Given the description of an element on the screen output the (x, y) to click on. 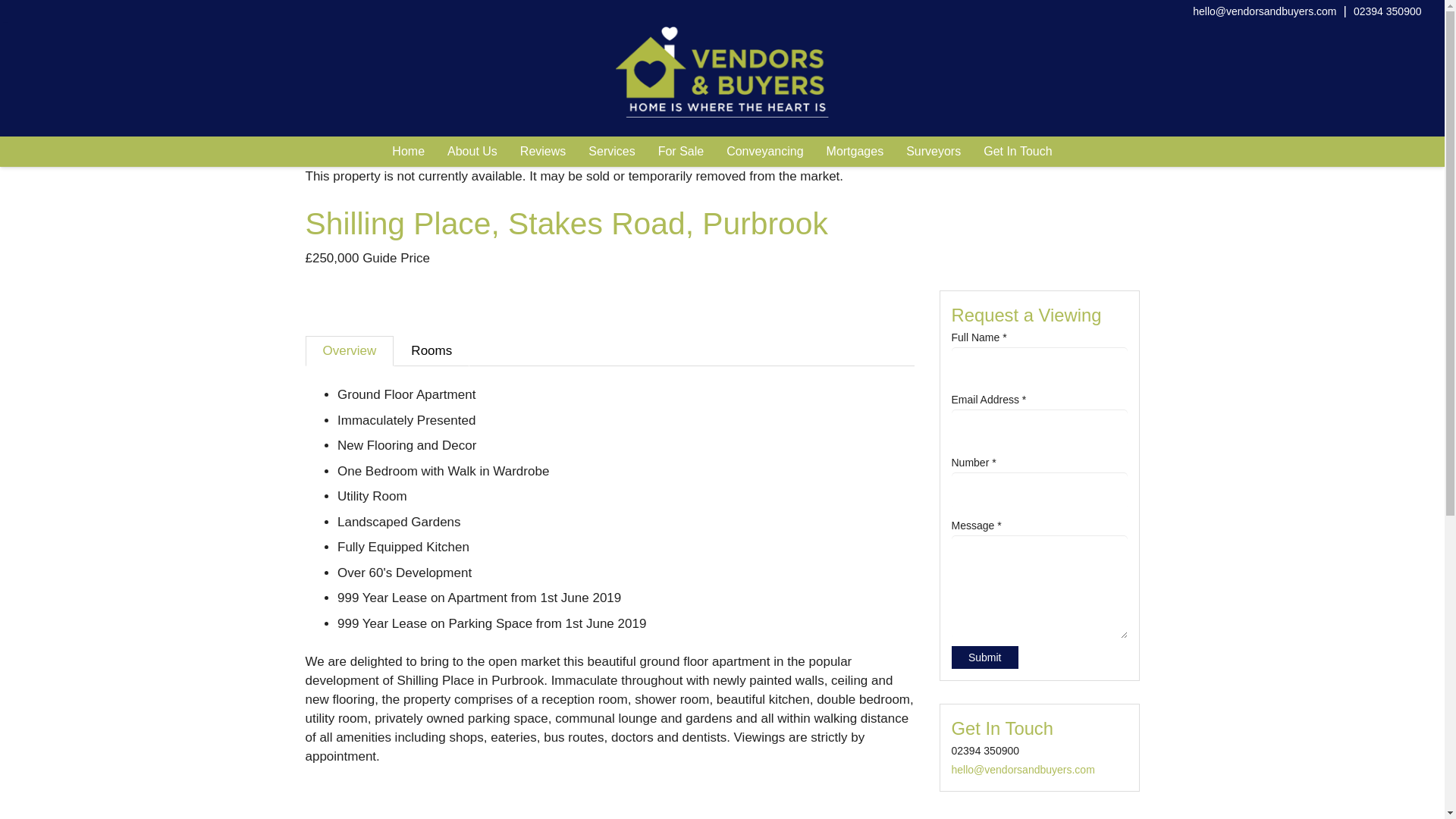
Overview (348, 350)
For Sale (680, 151)
02394 350900 (1388, 10)
Home (407, 151)
Rooms (430, 350)
Conveyancing (763, 151)
Mortgages (855, 151)
Submit (983, 657)
Reviews (542, 151)
Services (611, 151)
Surveyors (933, 151)
Get In Touch (1017, 151)
About Us (471, 151)
